Given the description of an element on the screen output the (x, y) to click on. 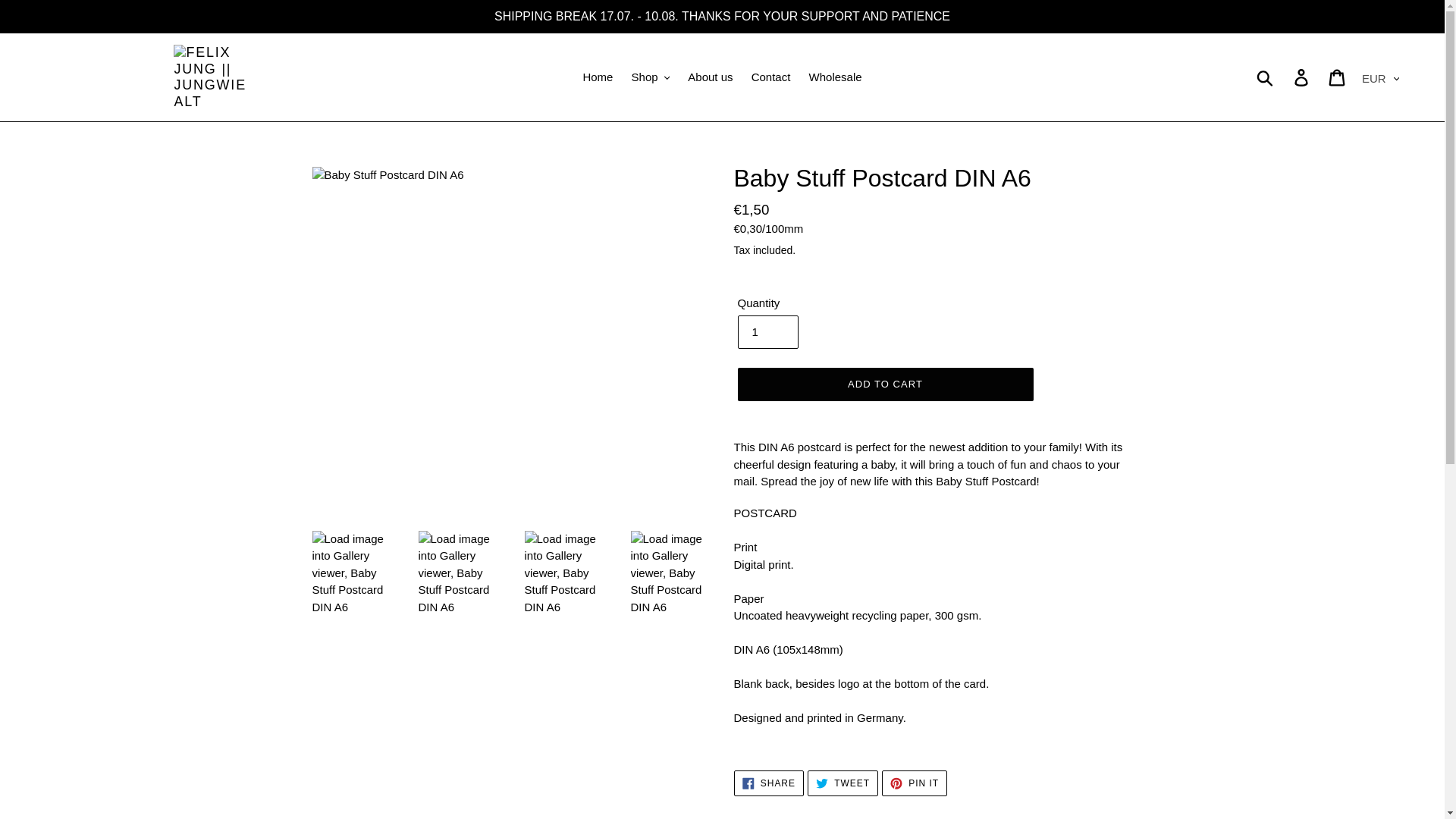
1 (766, 331)
Contact (770, 77)
Submit (1265, 77)
About us (709, 77)
Home (597, 77)
Wholesale (835, 77)
